Given the description of an element on the screen output the (x, y) to click on. 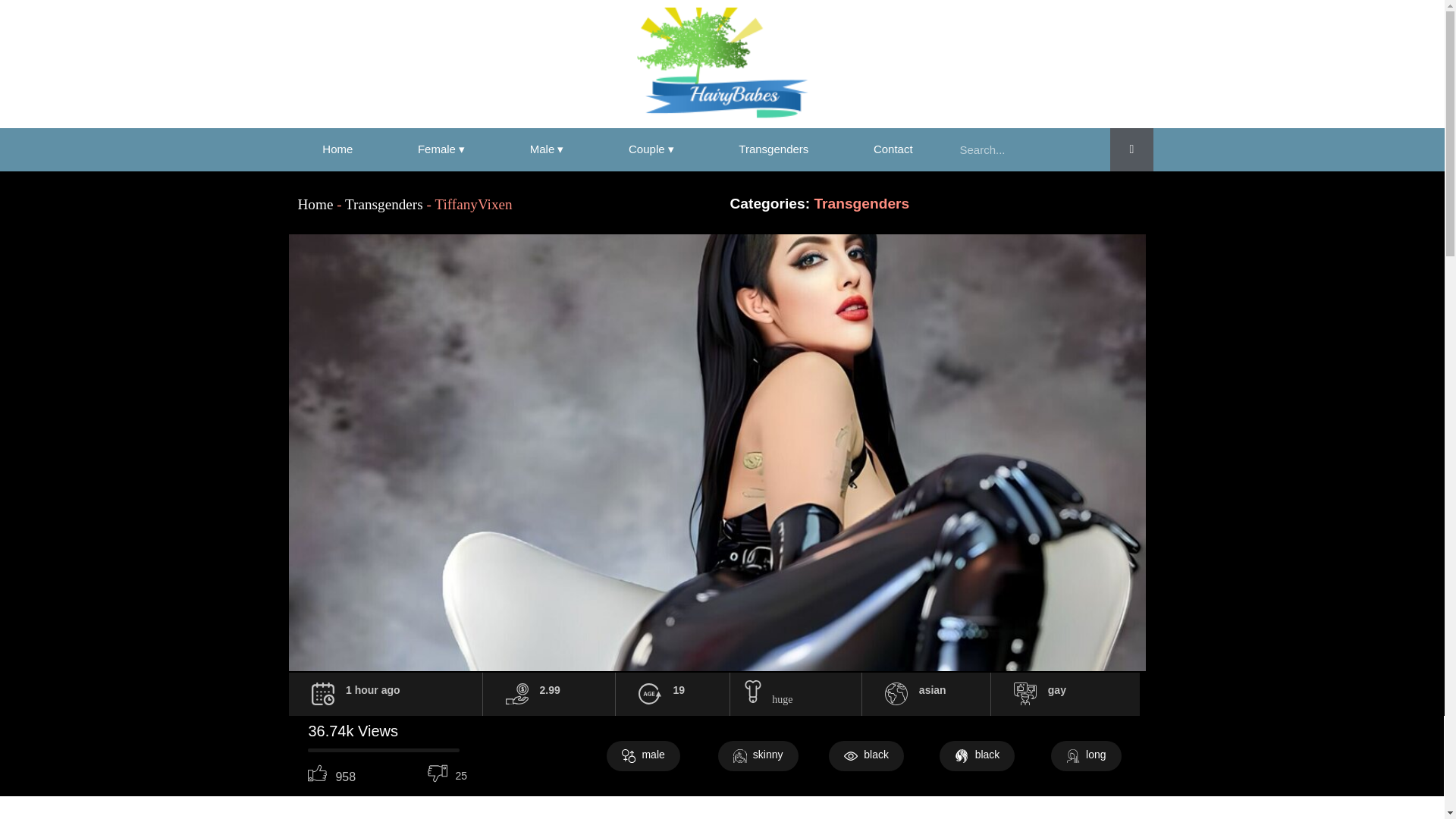
Transgenders (773, 148)
black (866, 756)
Contact (892, 148)
Home (337, 148)
skinny (757, 756)
Home (337, 148)
Transgenders (773, 148)
Transgenders (384, 204)
male (643, 756)
